Given the description of an element on the screen output the (x, y) to click on. 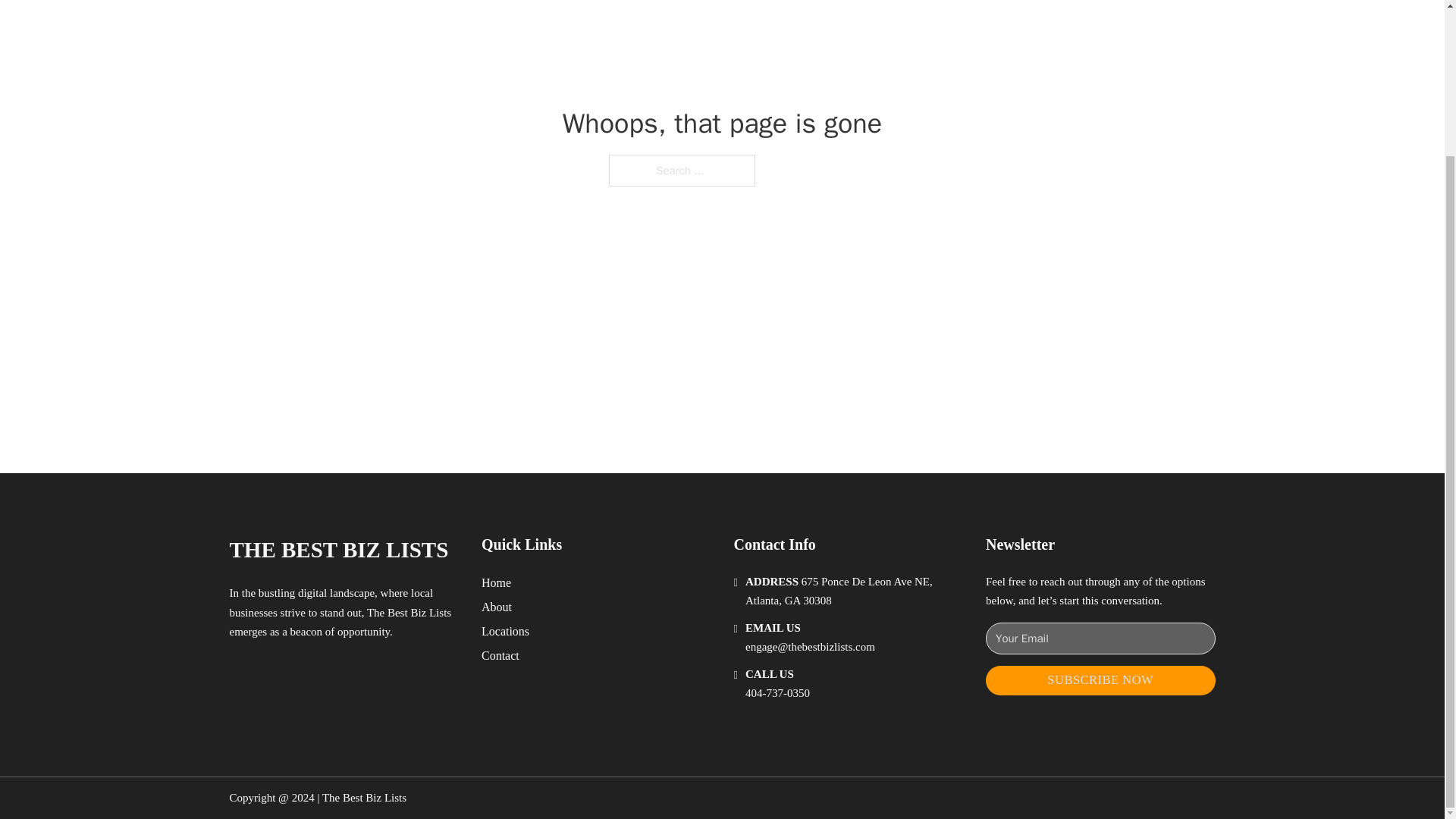
Locations (505, 630)
SUBSCRIBE NOW (1100, 680)
404-737-0350 (777, 693)
About (496, 607)
Contact (500, 655)
THE BEST BIZ LISTS (338, 549)
Home (496, 582)
